Given the description of an element on the screen output the (x, y) to click on. 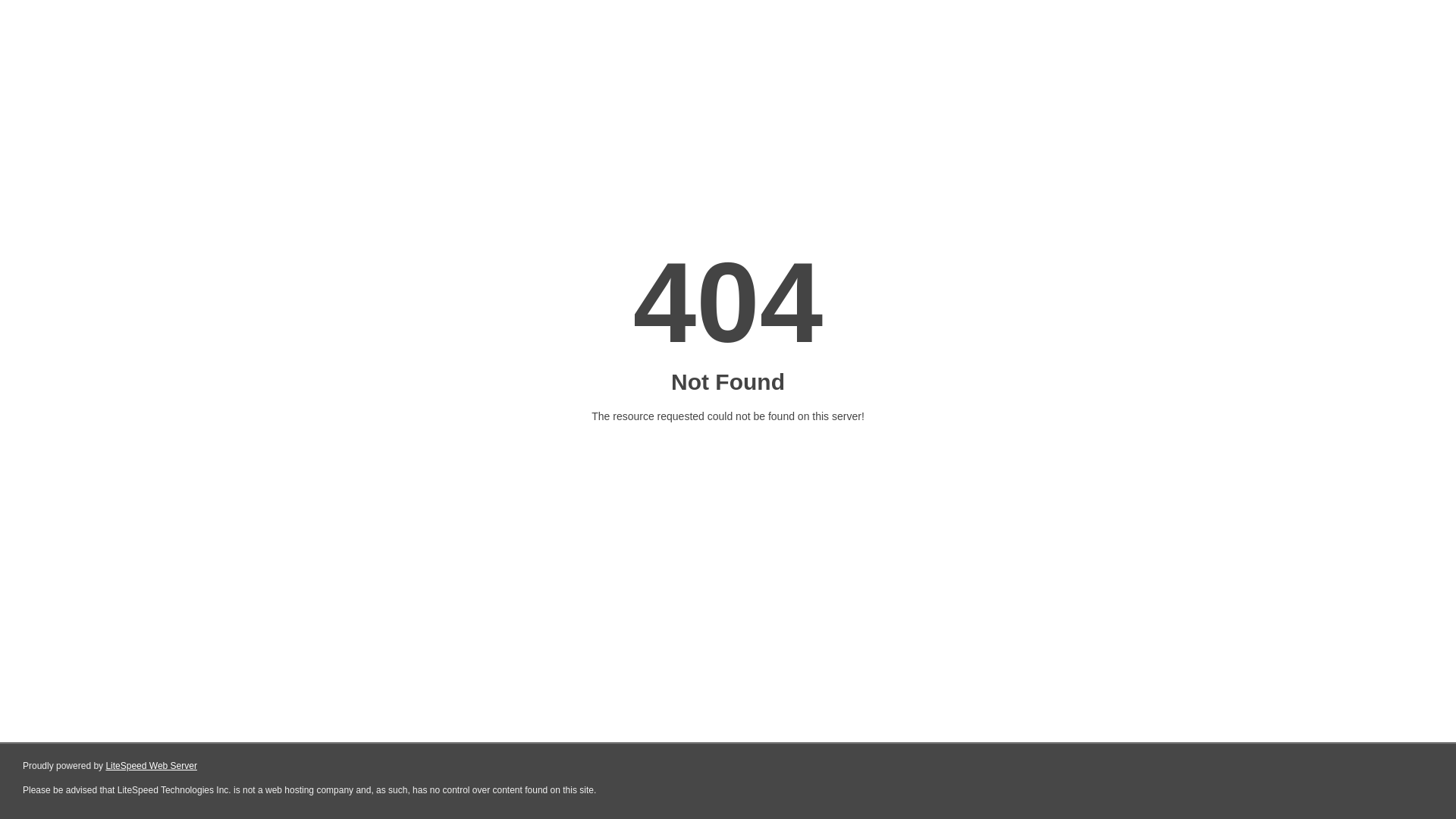
LiteSpeed Web Server Element type: text (151, 765)
